Given the description of an element on the screen output the (x, y) to click on. 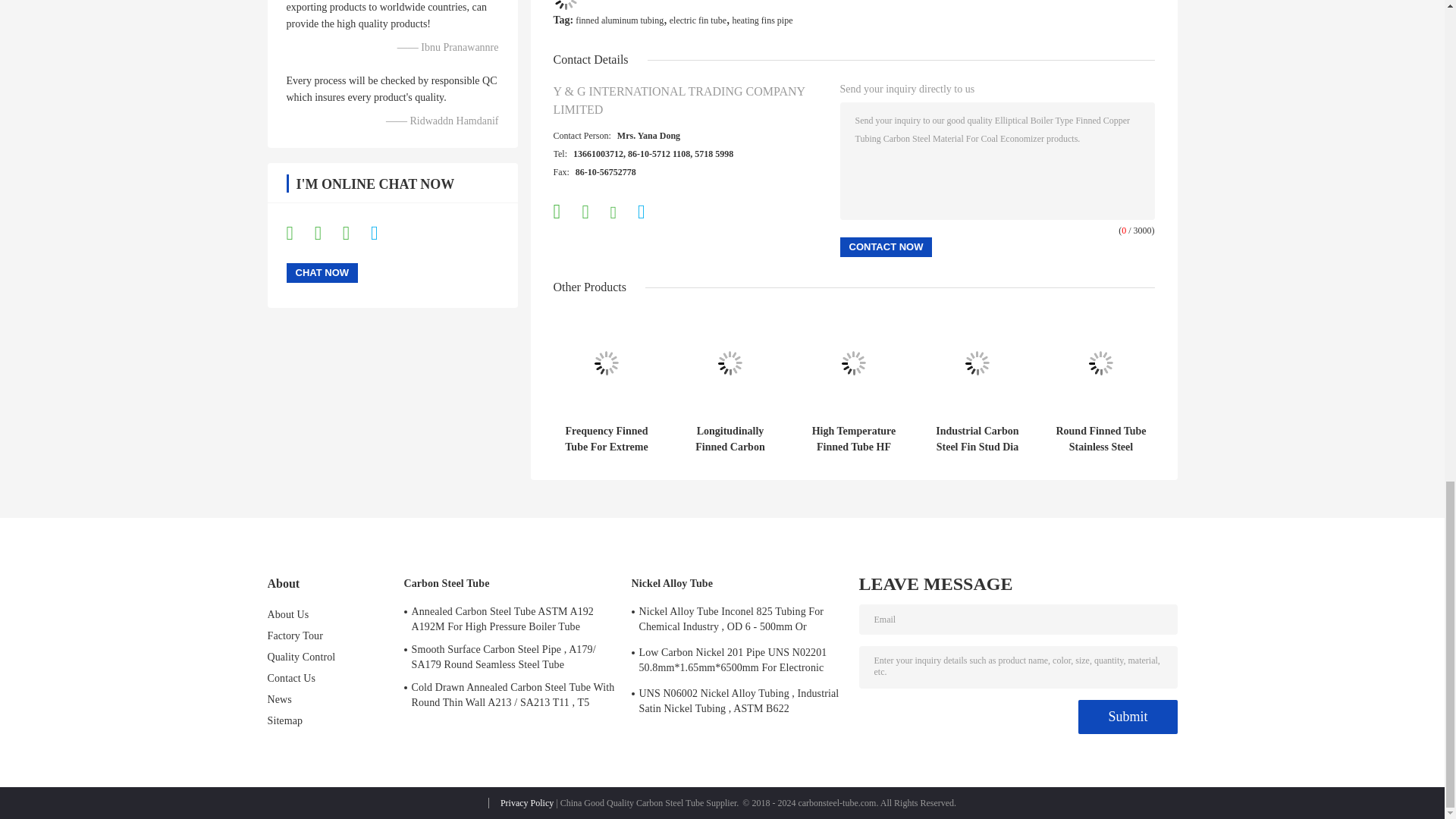
Contact Now (886, 247)
Submit (1127, 716)
Chat Now (322, 272)
